Given the description of an element on the screen output the (x, y) to click on. 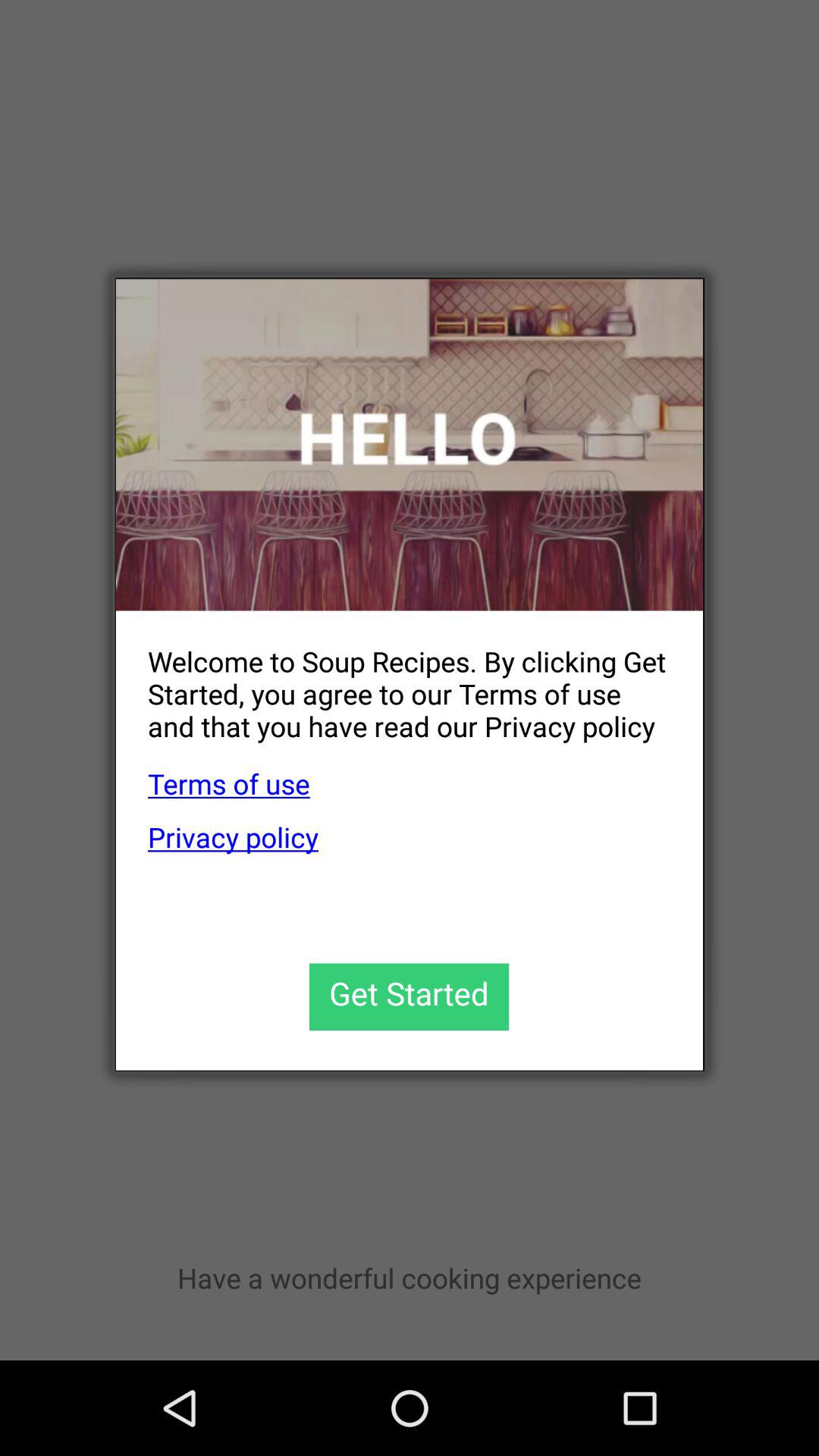
scroll to welcome to soup (393, 681)
